Given the description of an element on the screen output the (x, y) to click on. 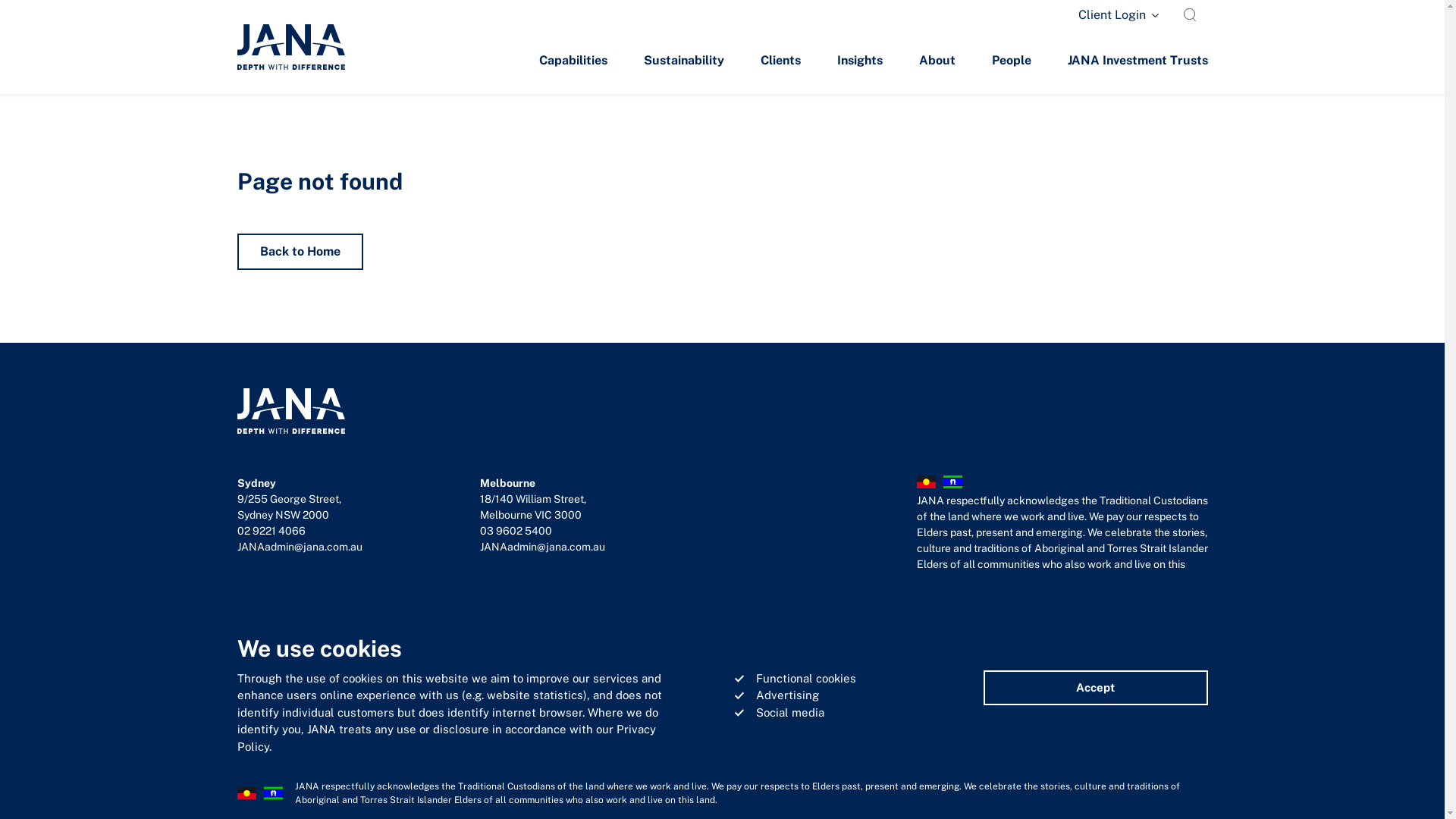
Privacy Policy Element type: text (267, 646)
Financial Services Guide Element type: text (404, 646)
Sustainability Element type: text (683, 62)
Complaints Policy Element type: text (550, 646)
Whistle Blower Policy Element type: text (689, 646)
Clients Element type: text (779, 62)
Accept Element type: text (1094, 688)
People Element type: text (1011, 62)
Client Login Element type: text (1118, 15)
JANA Investment Trusts Element type: text (1137, 62)
Back to Home Element type: text (299, 251)
Insights Element type: text (859, 62)
JANAadmin@jana.com.au Element type: text (541, 546)
About Element type: text (937, 62)
Important Information Element type: text (837, 646)
Capabilities Element type: text (572, 62)
JANAadmin@jana.com.au Element type: text (298, 546)
